Given the description of an element on the screen output the (x, y) to click on. 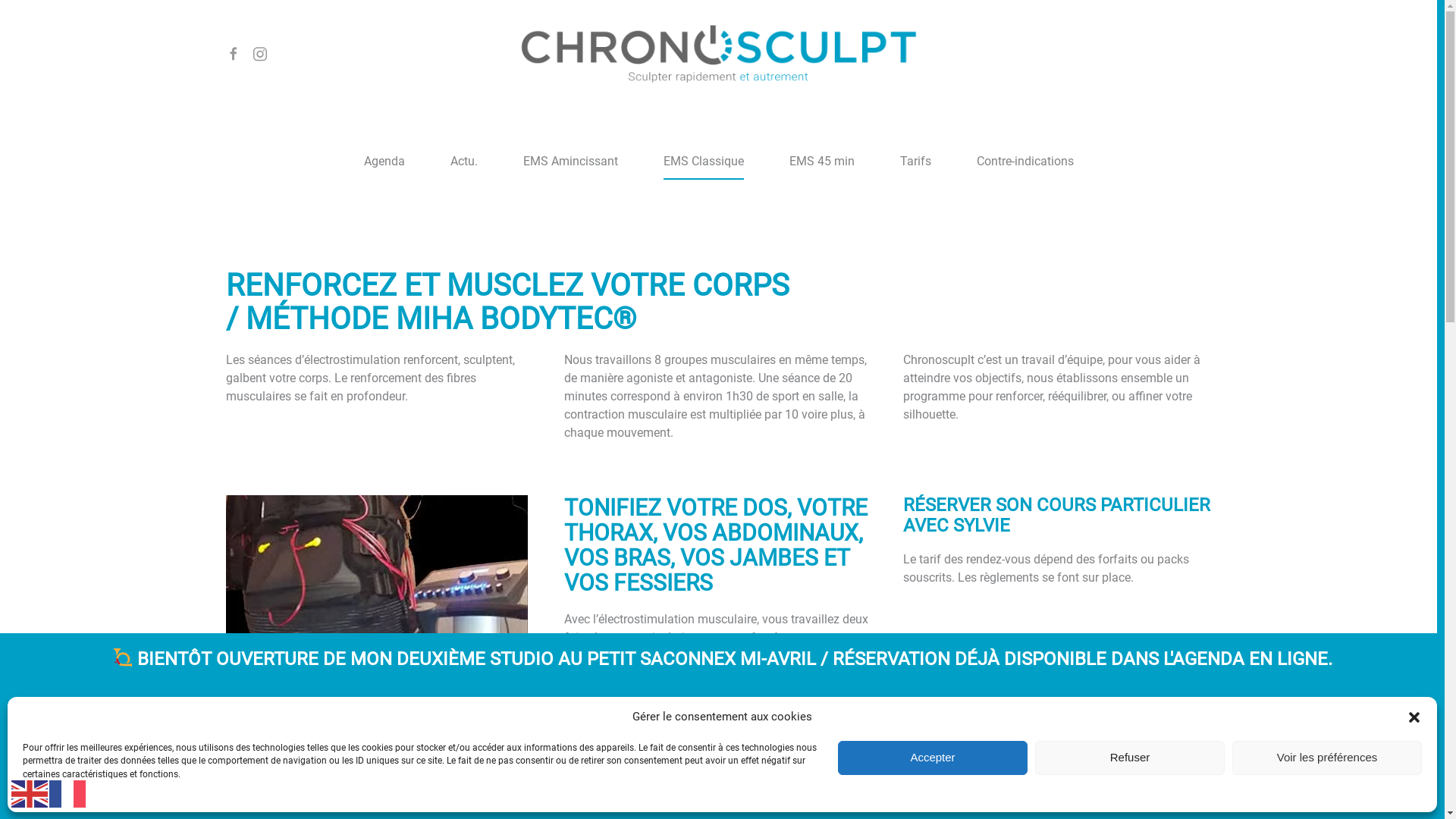
EMS Amincissant Element type: text (570, 161)
Contre-indications Element type: text (1024, 161)
Accepter Element type: text (932, 757)
English Element type: hover (30, 792)
French Element type: hover (68, 792)
EMS 45 min Element type: text (820, 161)
Tarifs Element type: text (914, 161)
Ok Element type: text (726, 787)
Agenda Element type: text (384, 161)
Actu. Element type: text (463, 161)
EMS Classique Element type: text (702, 161)
Refuser Element type: text (1129, 757)
